Given the description of an element on the screen output the (x, y) to click on. 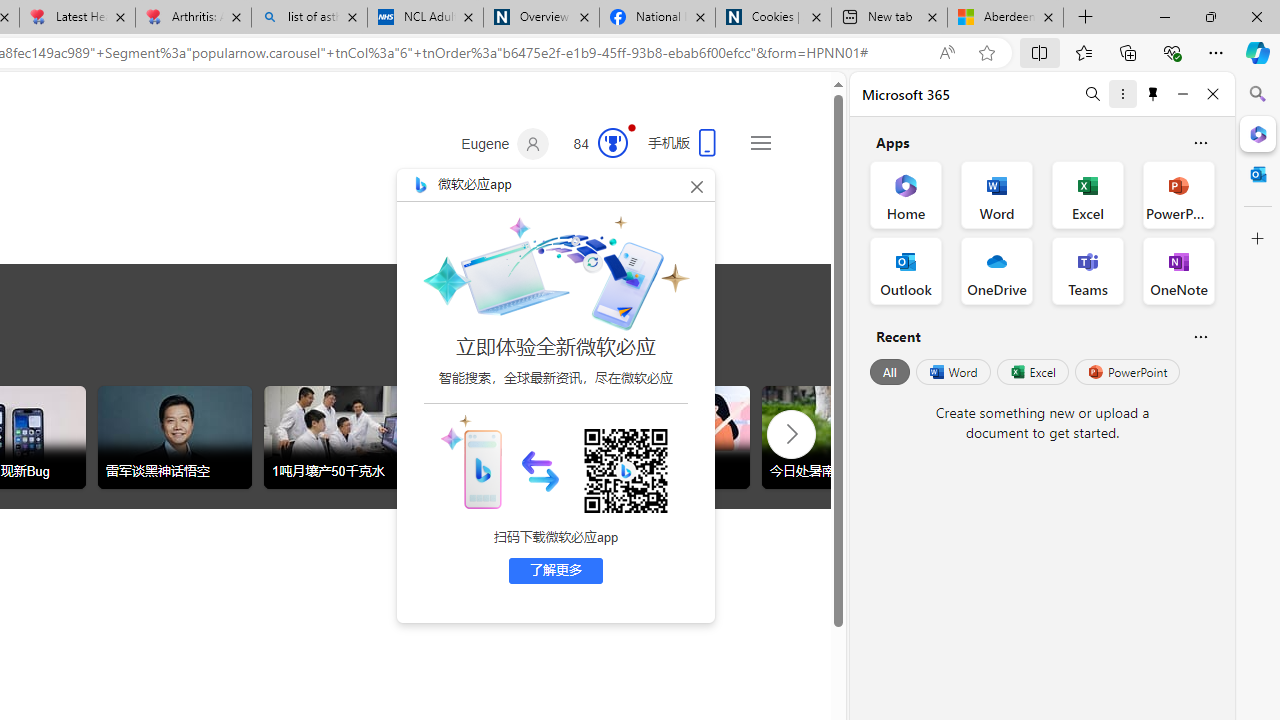
Outlook Office App (906, 270)
Word Office App (996, 194)
Microsoft Rewards 84 (594, 143)
